Given the description of an element on the screen output the (x, y) to click on. 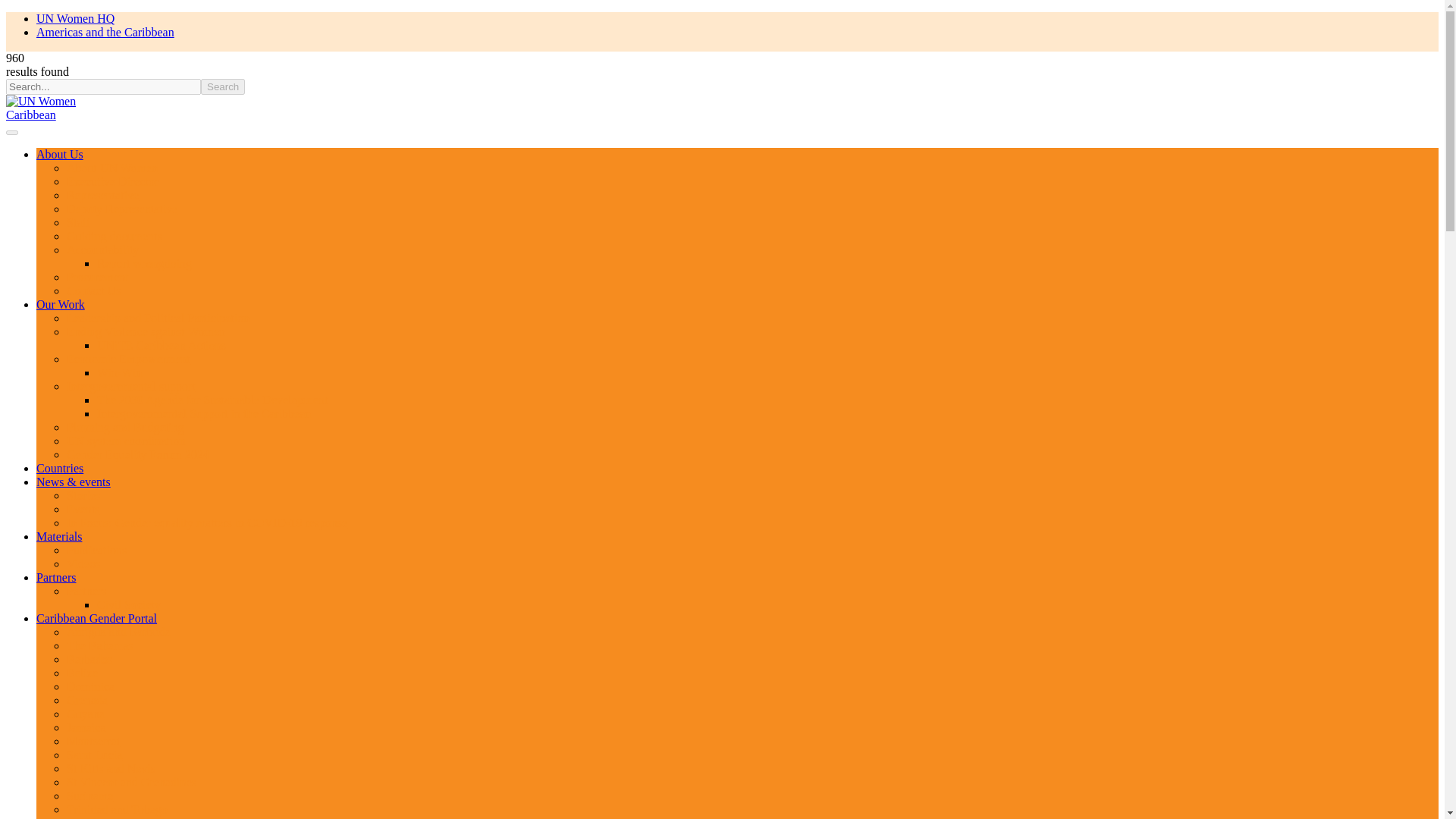
Events (83, 508)
Representative (102, 195)
Ending Violence against Women (145, 331)
Planning and Budgeting (125, 427)
Report wrongdoing (144, 263)
Economic Empowerment (128, 358)
Staff (78, 222)
Partners (86, 590)
Contact Us (93, 290)
UN system coordination (125, 440)
